Given the description of an element on the screen output the (x, y) to click on. 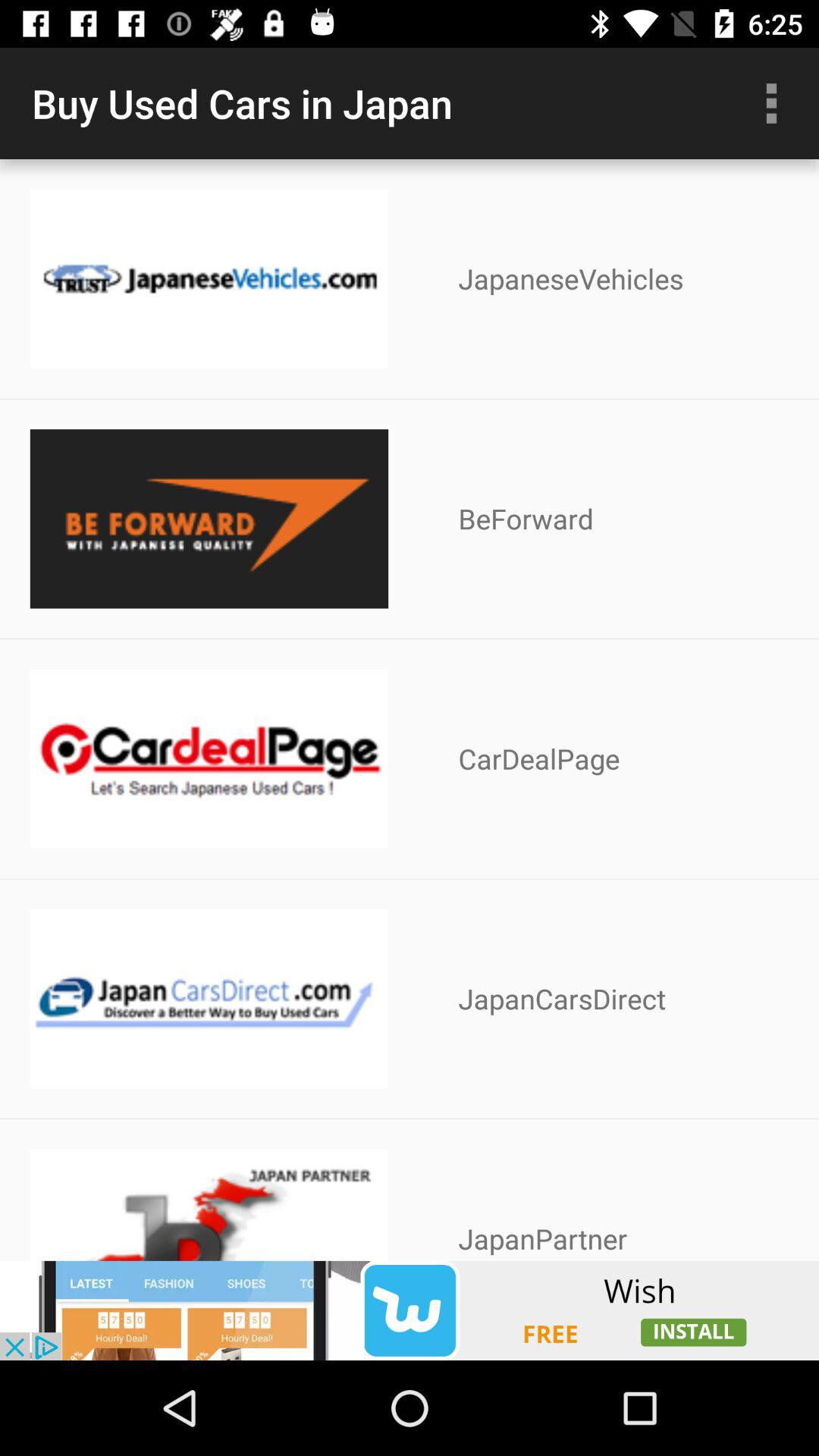
download app (409, 1310)
